Given the description of an element on the screen output the (x, y) to click on. 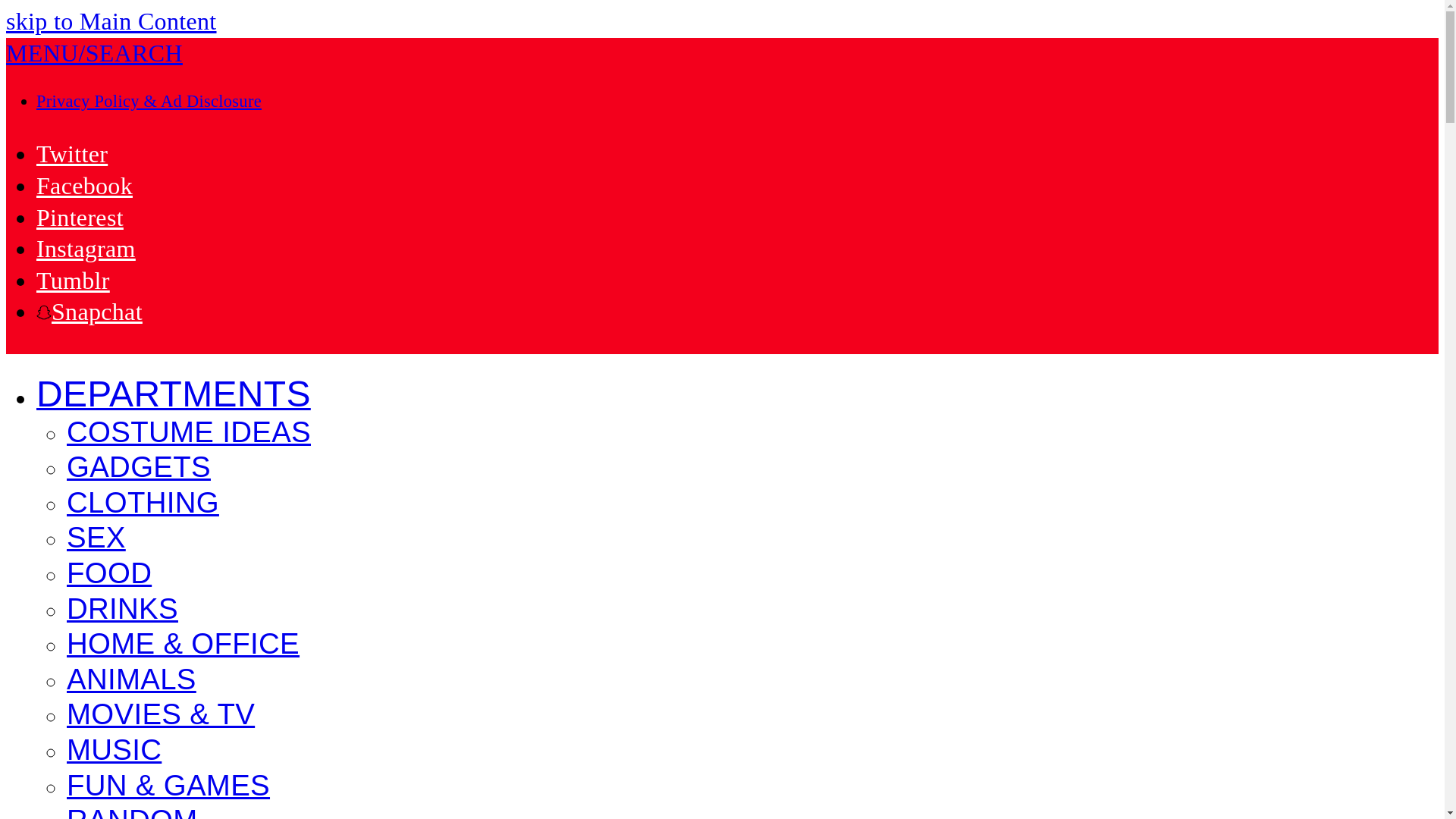
DRINKS (121, 610)
Twitter (71, 153)
DEPARTMENTS (173, 397)
MUSIC (113, 750)
CLOTHING (142, 503)
Tumblr (73, 280)
RANDOM (132, 813)
Instagram (85, 248)
Instagram (85, 248)
FOOD (108, 574)
Facebook (84, 185)
Snapchat (89, 311)
SEX (95, 538)
skip to Main Content (110, 21)
Pinterest (79, 216)
